Given the description of an element on the screen output the (x, y) to click on. 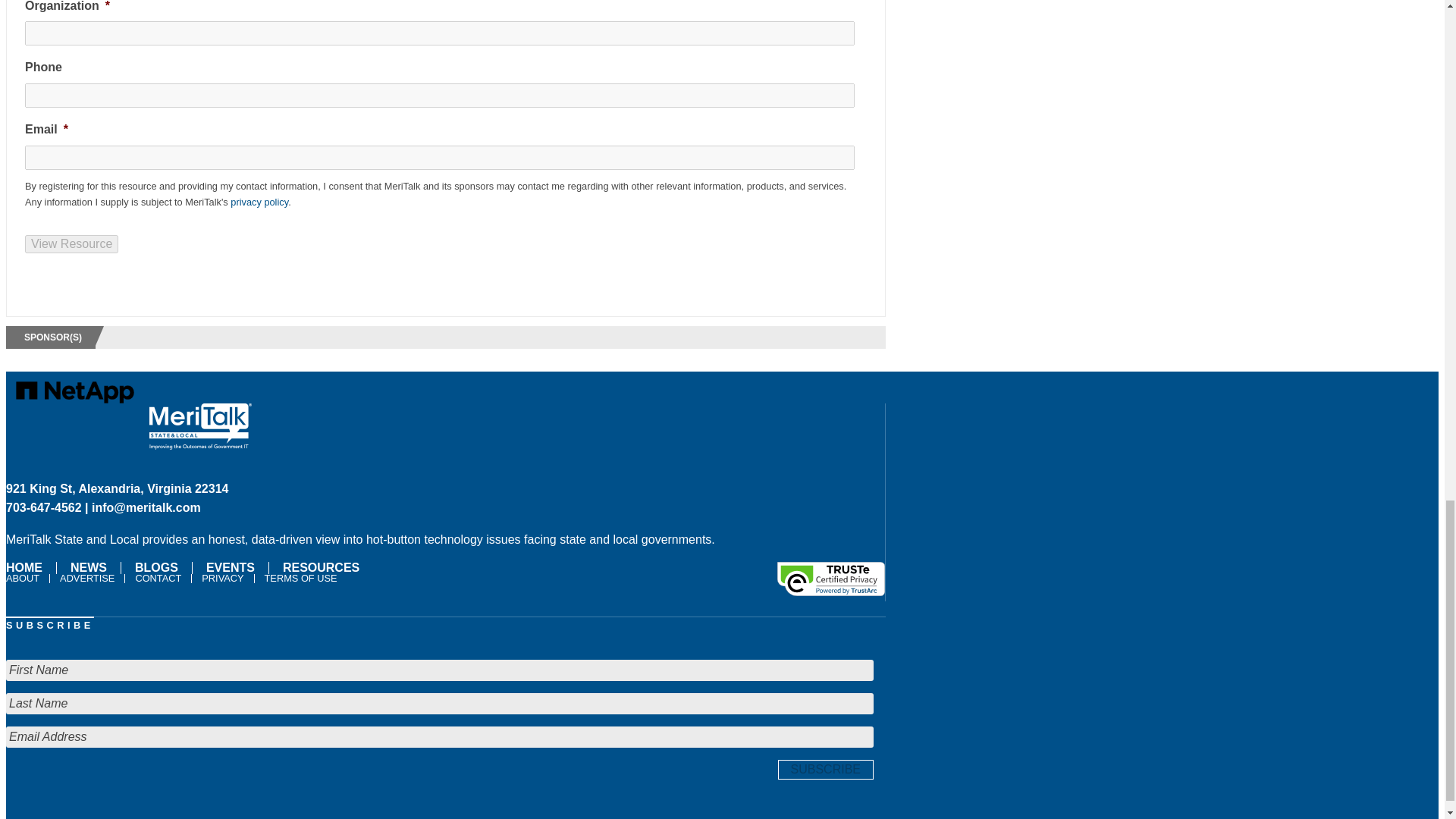
View Resource (70, 244)
NEWS (88, 567)
HOME (27, 567)
BLOGS (157, 567)
EVENTS (230, 567)
privacy policy (259, 202)
ADVERTISE (86, 577)
Subscribe (825, 769)
Subscribe (825, 769)
ABOUT (24, 577)
CONTACT (157, 577)
View Resource (70, 244)
PRIVACY (222, 577)
TERMS OF USE (300, 577)
RESOURCES (320, 567)
